Given the description of an element on the screen output the (x, y) to click on. 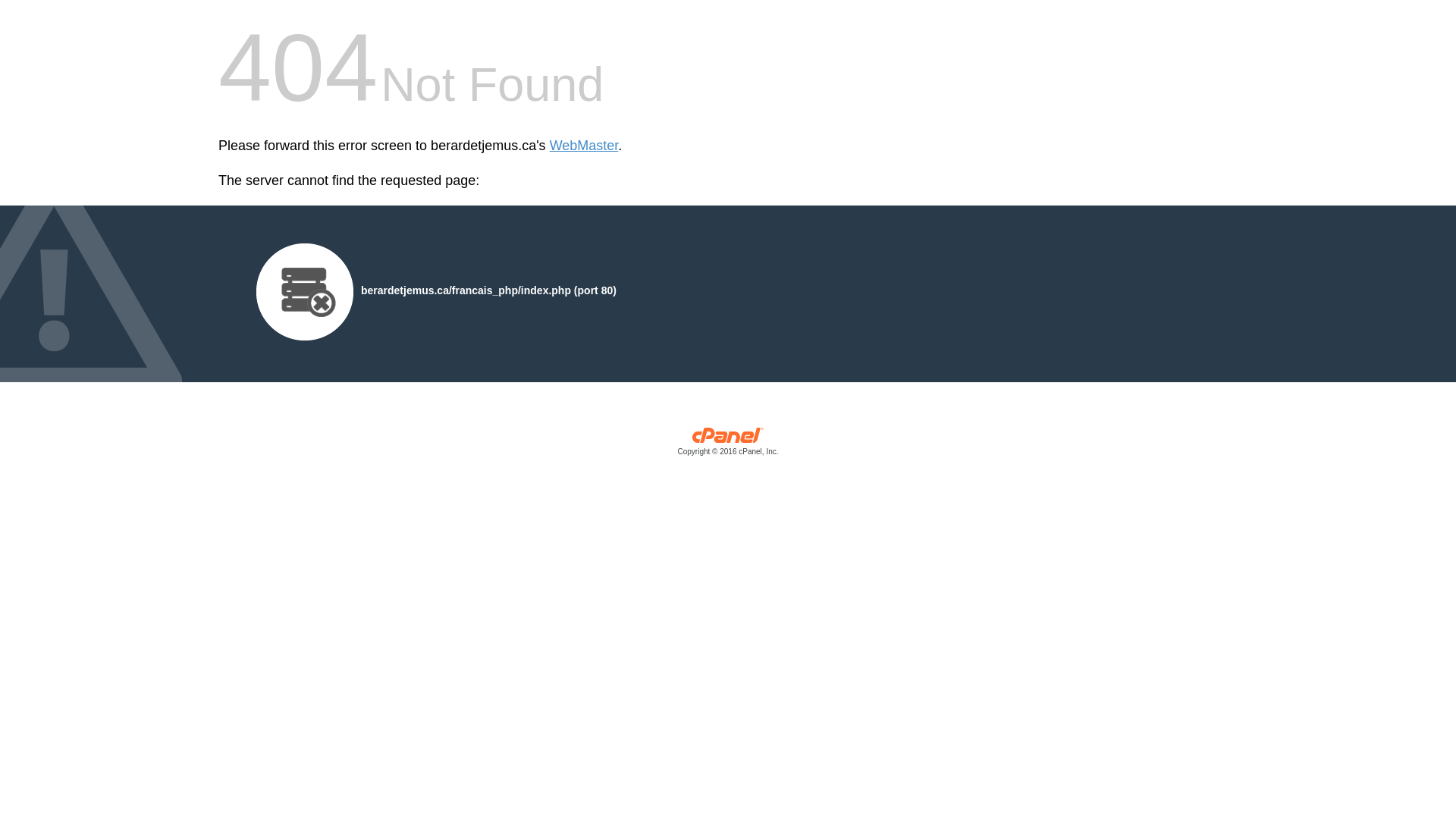
WebMaster Element type: text (583, 145)
